Given the description of an element on the screen output the (x, y) to click on. 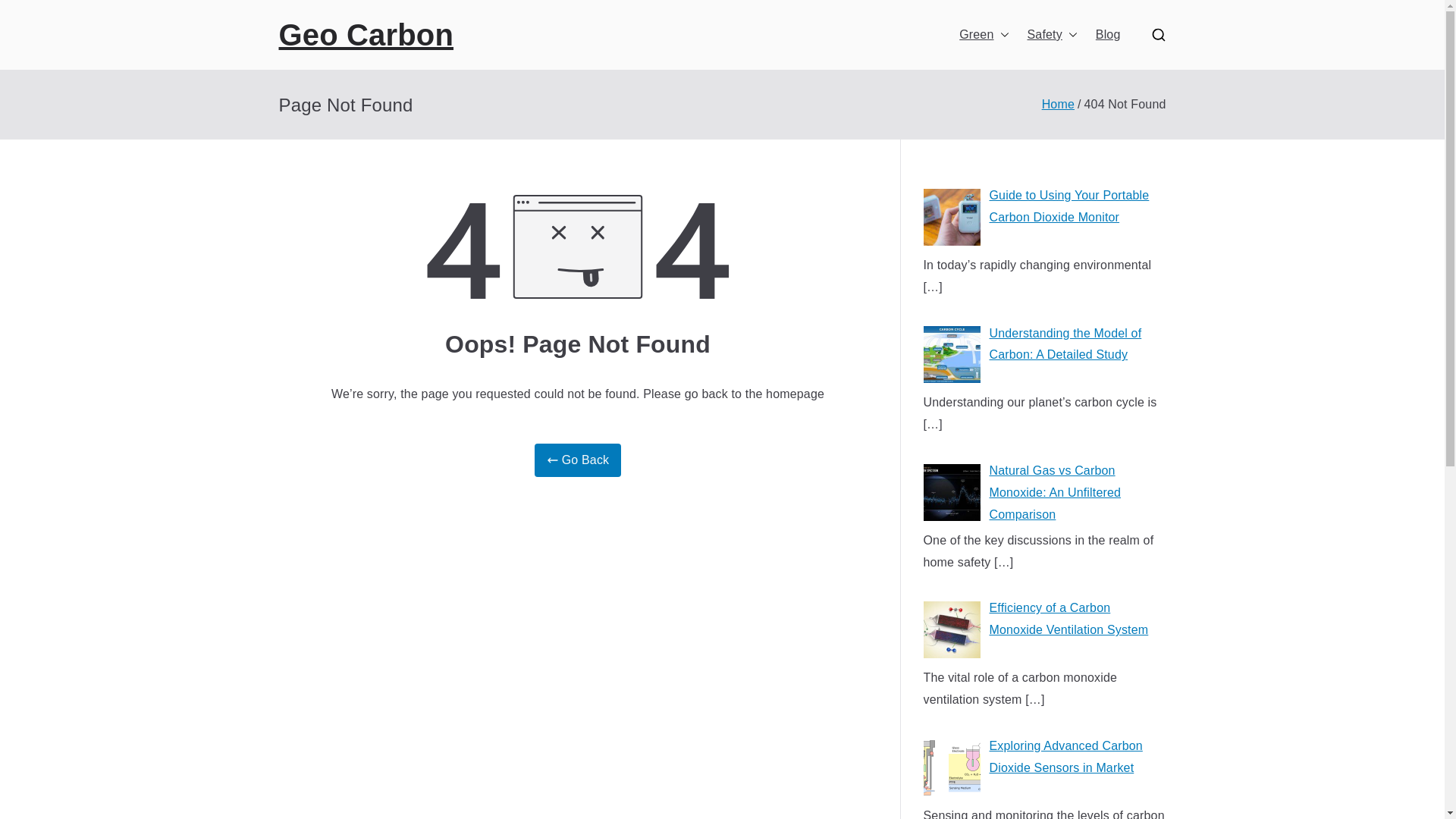
Exploring Advanced Carbon Dioxide Sensors in Market (1044, 770)
Geo Carbon (366, 34)
Guide to Using Your Portable Carbon Dioxide Monitor (1044, 219)
Green (984, 34)
Home (1058, 103)
Go Back (577, 460)
Understanding the Model of Carbon: A Detailed Study (1044, 357)
Search (26, 18)
Blog (1108, 34)
Safety (1051, 34)
Search (26, 12)
Natural Gas vs Carbon Monoxide: An Unfiltered Comparison (1044, 494)
Efficiency of a Carbon Monoxide Ventilation System (1044, 632)
